Given the description of an element on the screen output the (x, y) to click on. 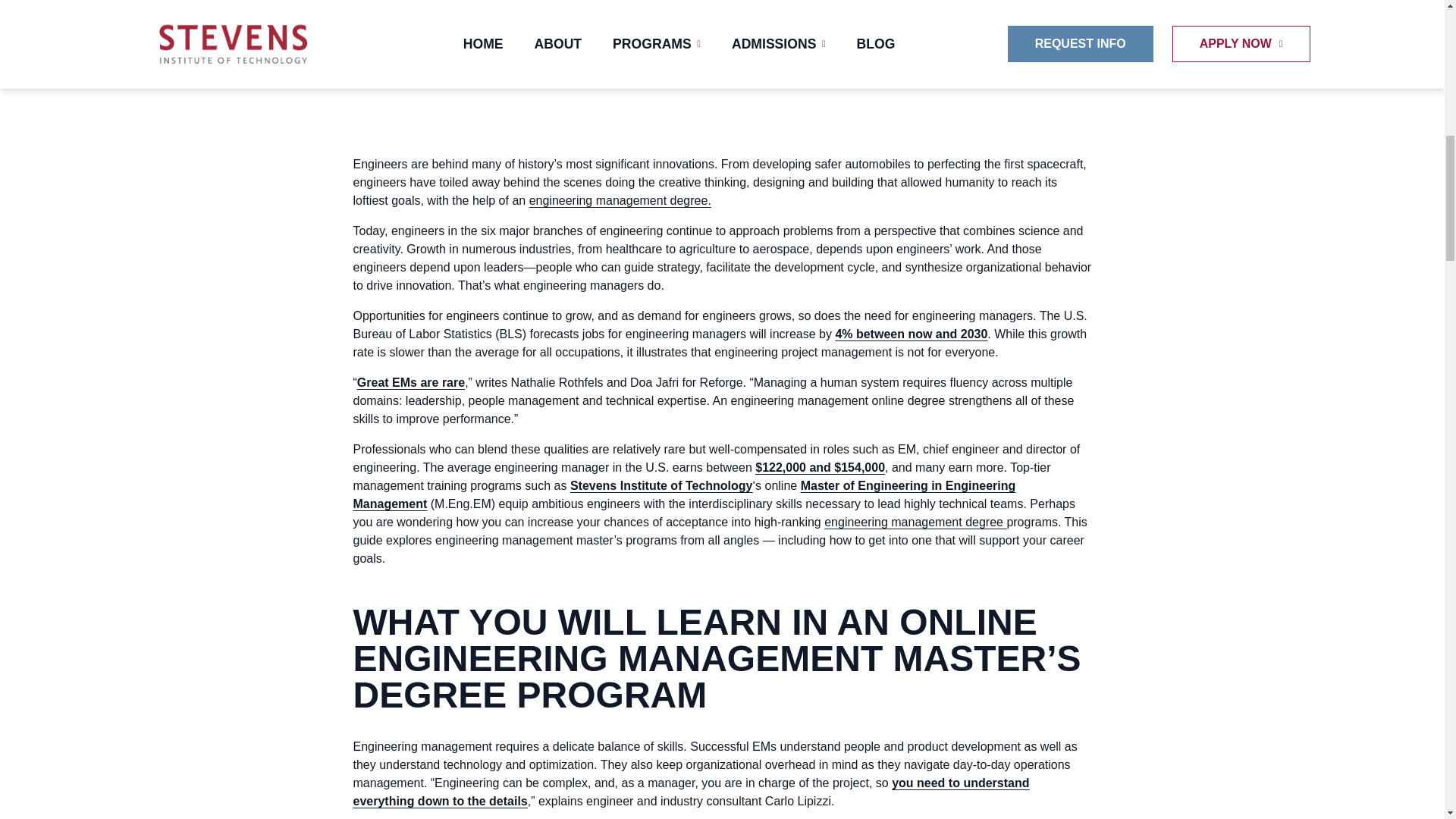
you need to understand everything down to the details (691, 791)
engineering management degree (915, 521)
Stevens Institute of Technology (661, 485)
Great EMs are rare (410, 382)
engineering management (597, 200)
Master of Engineering in Engineering Management (684, 494)
degree. (688, 200)
